Given the description of an element on the screen output the (x, y) to click on. 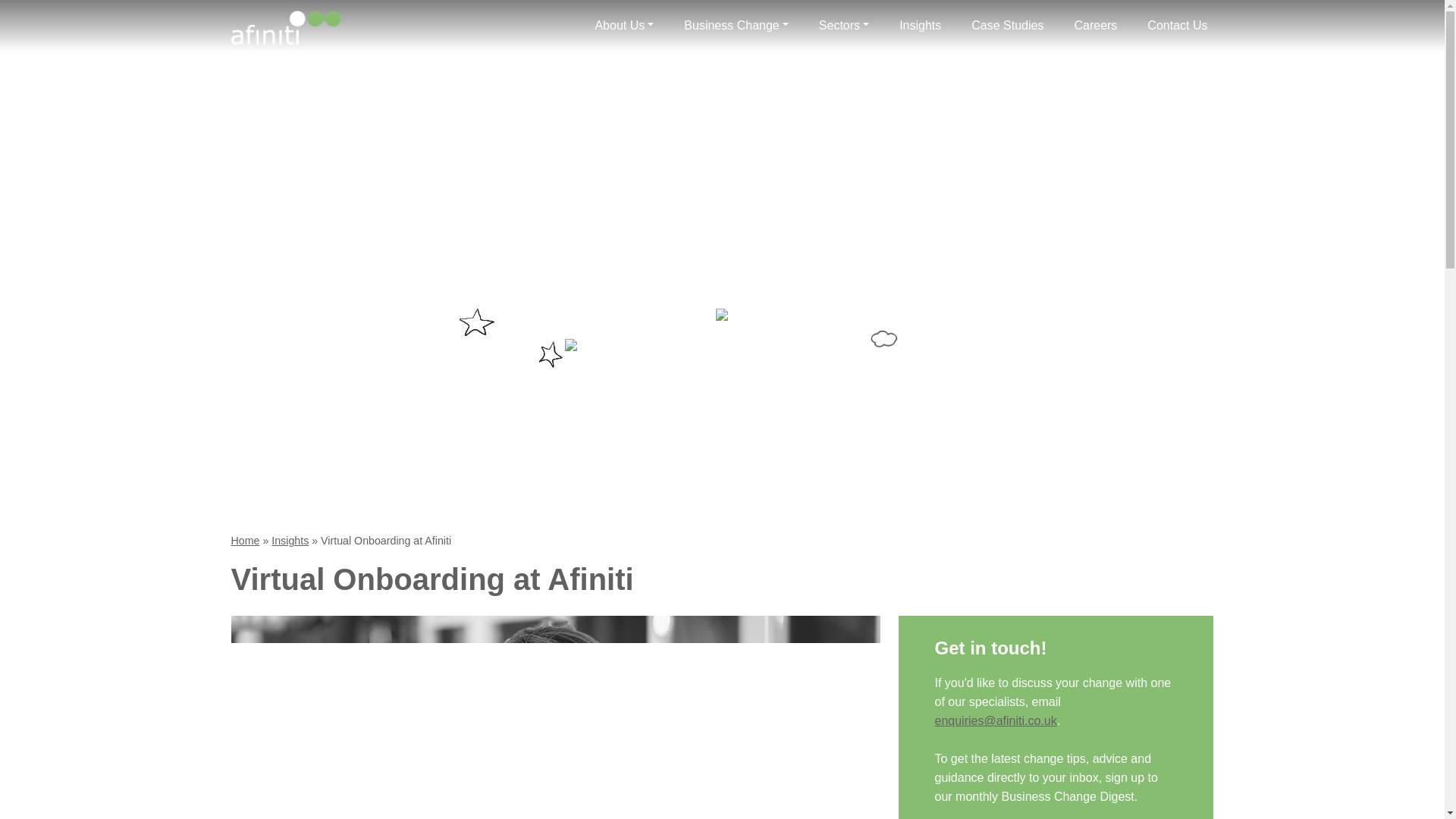
Insights (289, 540)
Case Studies (1007, 25)
Careers (1094, 25)
Insights (920, 25)
Home (244, 540)
About Us (623, 25)
Business Change (736, 25)
About Us (623, 25)
Insights (920, 25)
Contact Us (1176, 25)
Business Change Management Services (736, 25)
Case Studies (1007, 25)
Sectors (843, 25)
